Given the description of an element on the screen output the (x, y) to click on. 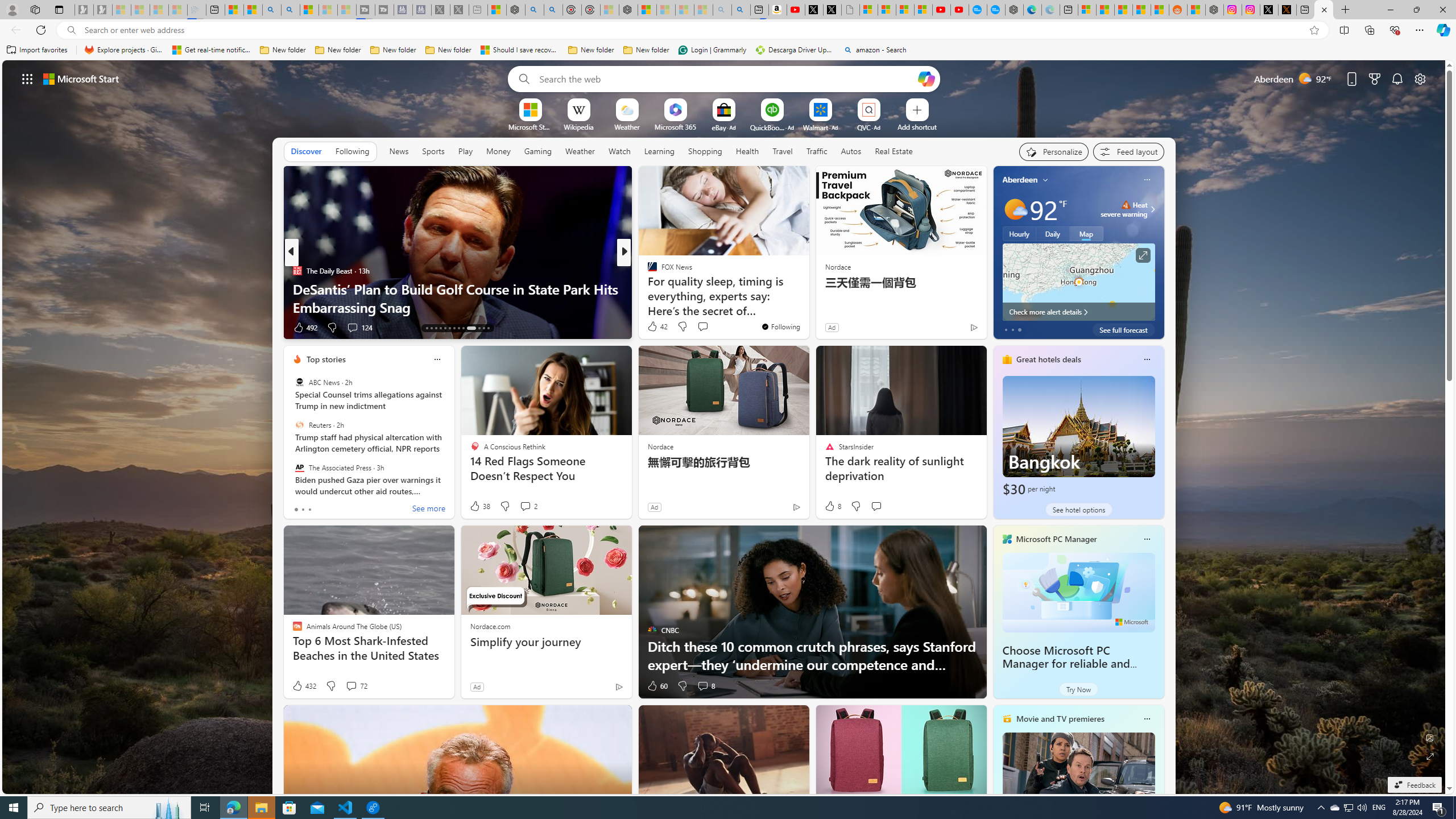
Mostly sunny (1014, 208)
79 Like (652, 327)
Traffic (816, 151)
Nordace.com (490, 625)
Larger map  (1077, 282)
Descarga Driver Updater (794, 49)
49 Like (652, 327)
